Given the description of an element on the screen output the (x, y) to click on. 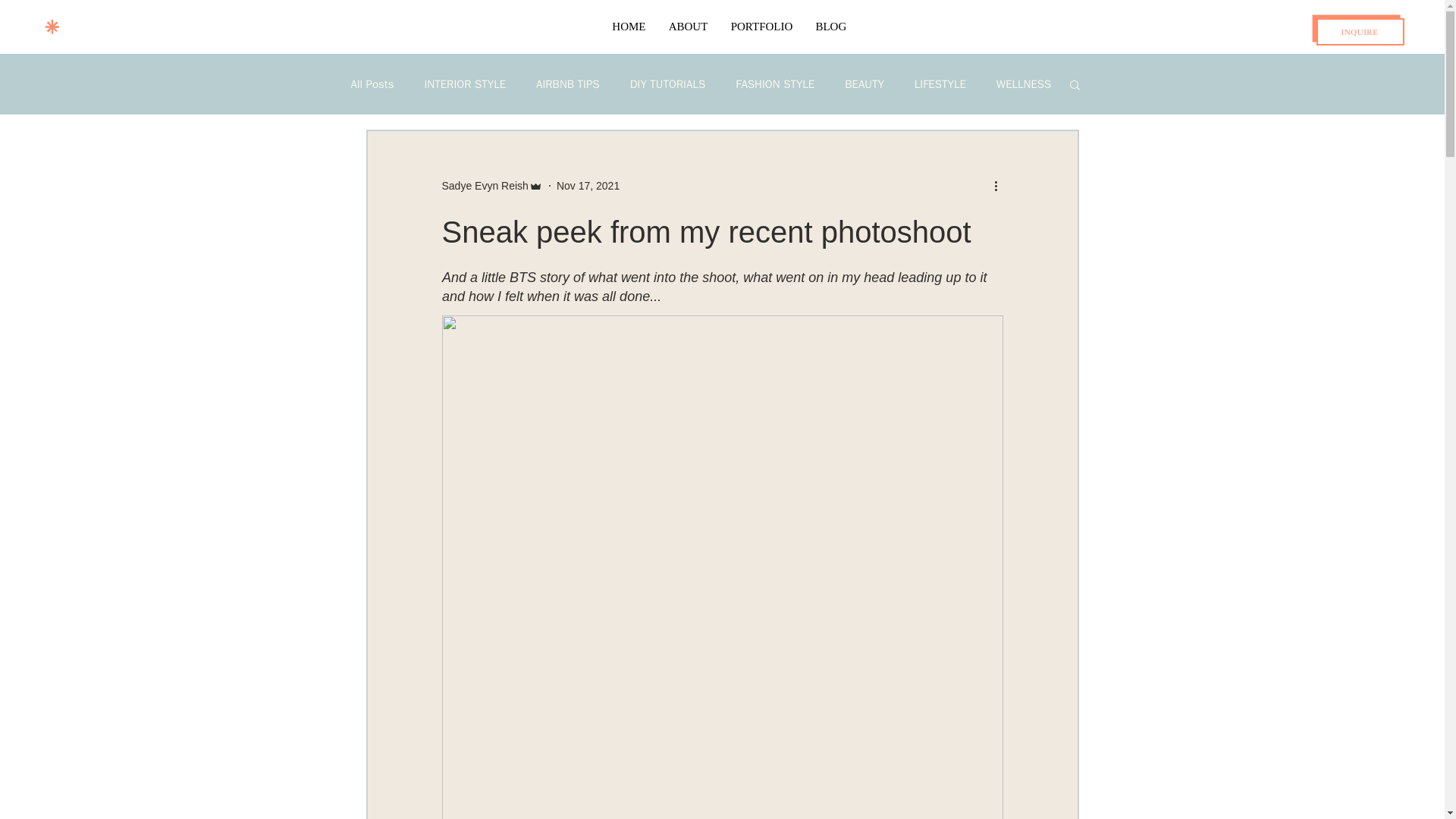
INTERIOR STYLE (464, 83)
HOME (627, 26)
INQUIRE (1360, 31)
All Posts (371, 83)
WELLNESS (1023, 83)
PORTFOLIO (761, 26)
AIRBNB TIPS (567, 83)
Nov 17, 2021 (588, 184)
ABOUT (687, 26)
BLOG (830, 26)
